Given the description of an element on the screen output the (x, y) to click on. 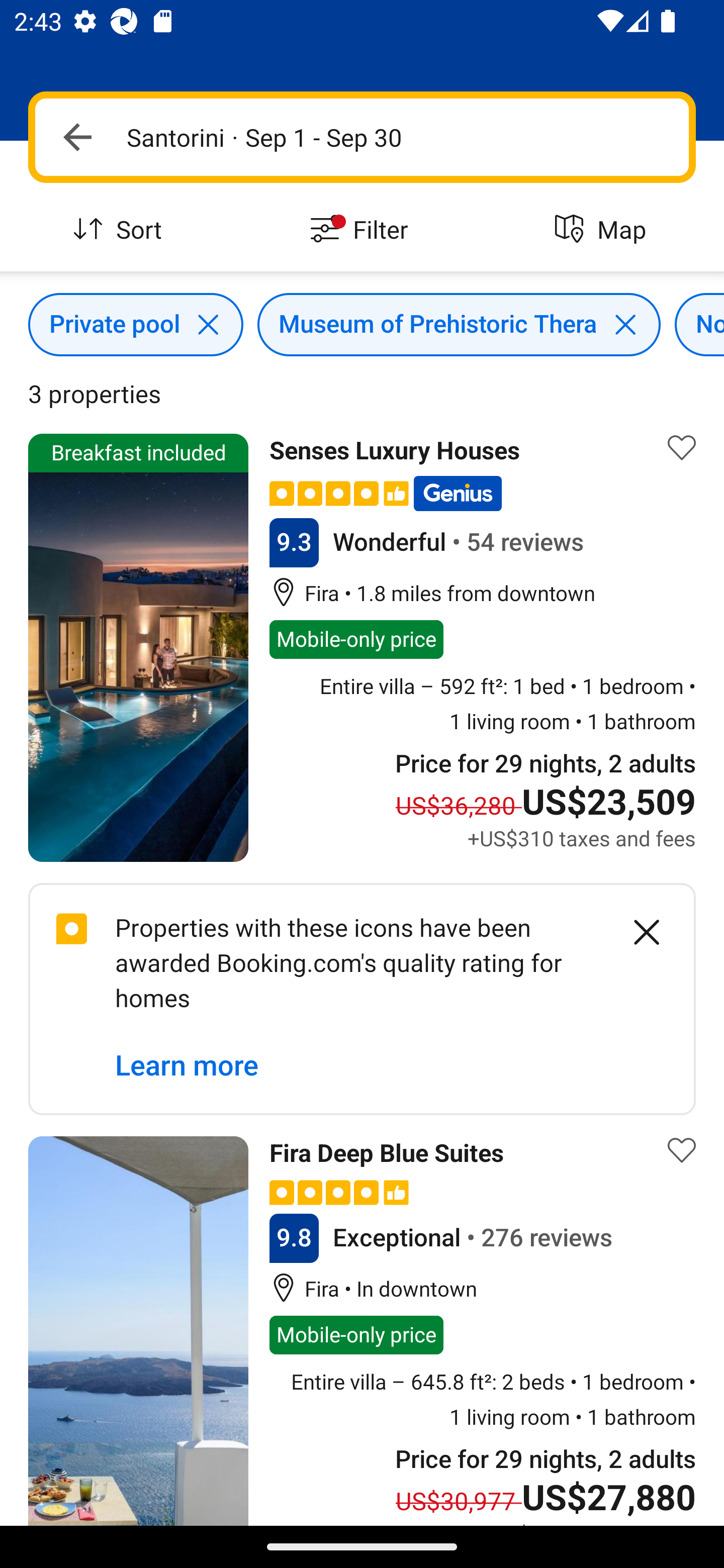
Navigate up Santorini · Sep 1 - Sep 30 (362, 136)
Navigate up (77, 136)
Sort (120, 230)
Filter (361, 230)
Map (603, 230)
Save property to list (681, 447)
Clear (635, 931)
Learn more (187, 1065)
Save property to list (681, 1150)
